Given the description of an element on the screen output the (x, y) to click on. 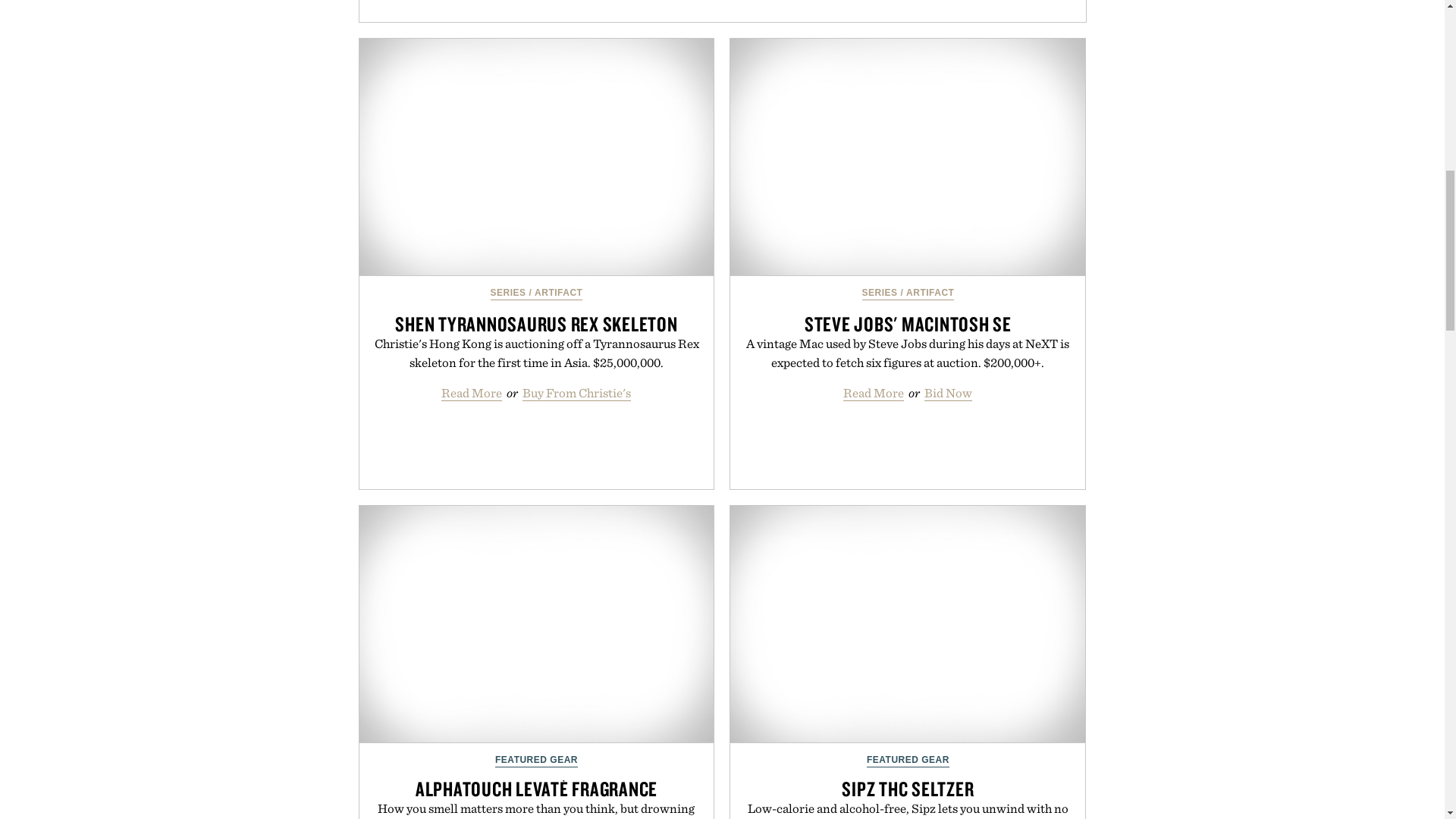
3rd party ad content (725, 11)
Steve Jobs' Macintosh SE (907, 157)
Sipz THC Seltzer (907, 624)
Shen Tyrannosaurus Rex Skeleton (536, 157)
